Given the description of an element on the screen output the (x, y) to click on. 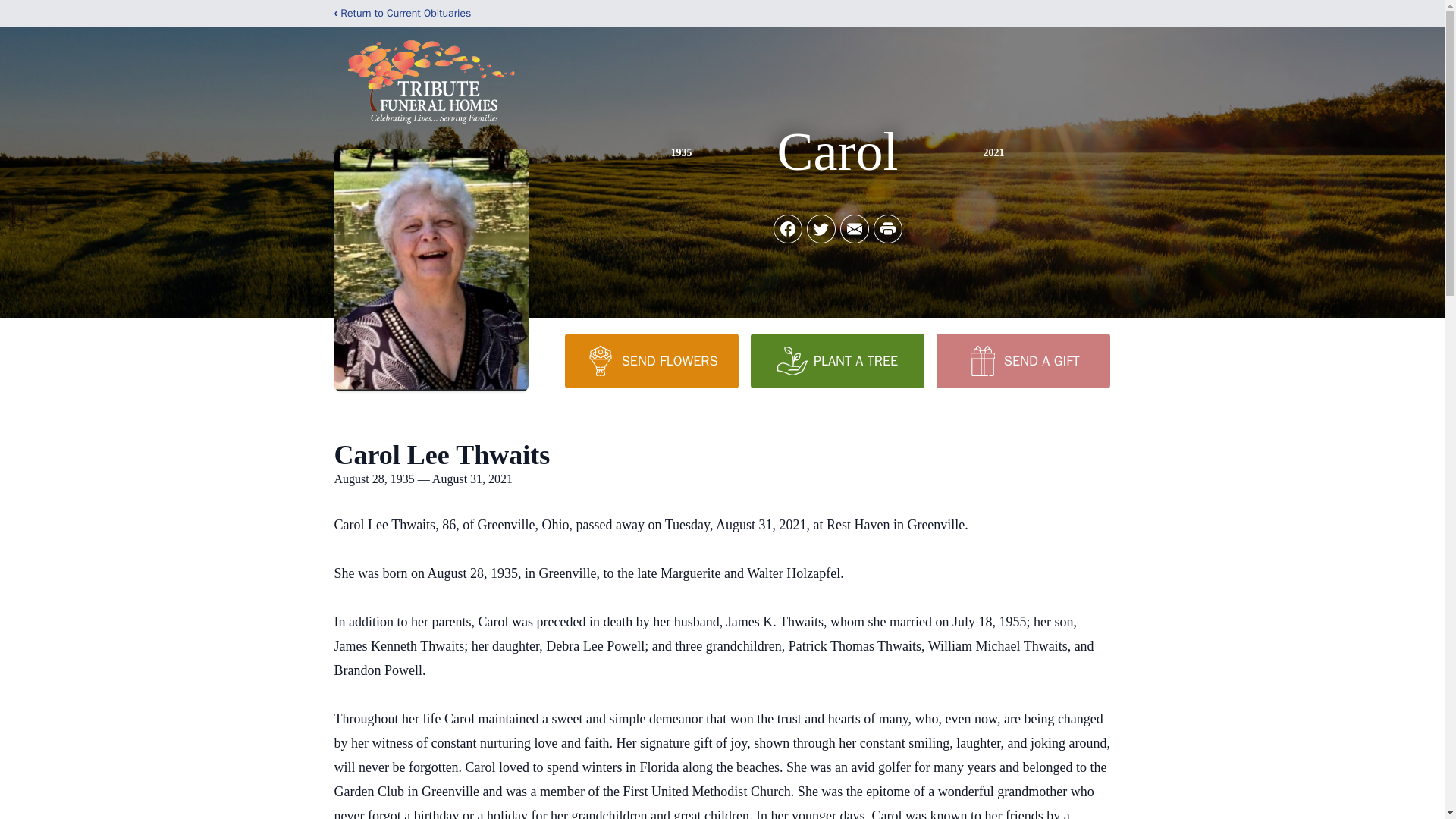
SEND FLOWERS (651, 360)
SEND A GIFT (1022, 360)
PLANT A TREE (837, 360)
